Given the description of an element on the screen output the (x, y) to click on. 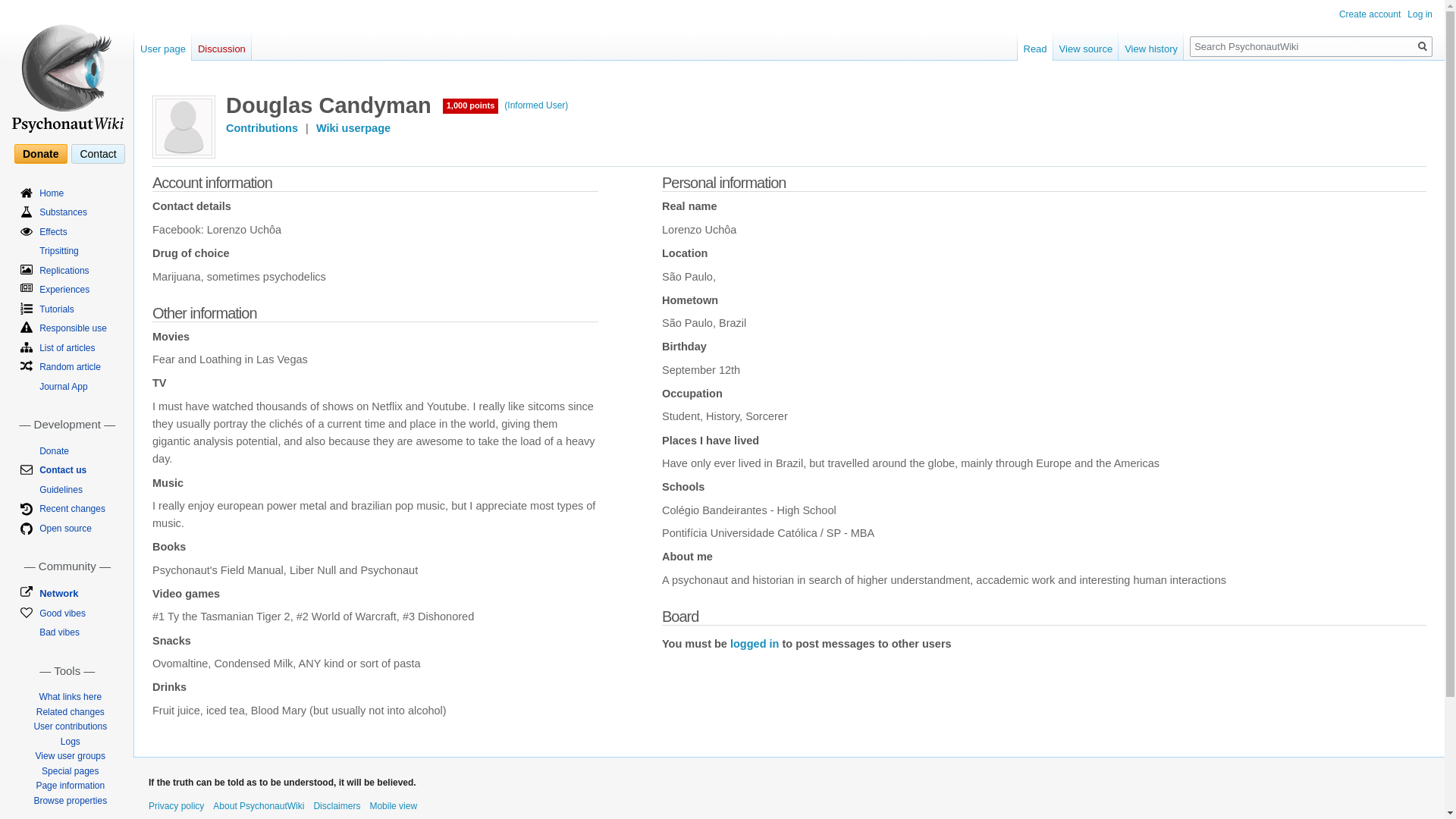
Network (58, 593)
Wiki userpage (352, 128)
Donate (39, 153)
Search pages for this text (1422, 46)
Journal App (63, 386)
Special:UserLogin (754, 644)
Search (1422, 46)
Project:Privacy policy (175, 805)
Good vibes (62, 613)
List of articles (66, 347)
Read (1034, 45)
1,000 points (470, 104)
Create account (1369, 14)
Random article (69, 366)
Tripsitting (58, 250)
